Given the description of an element on the screen output the (x, y) to click on. 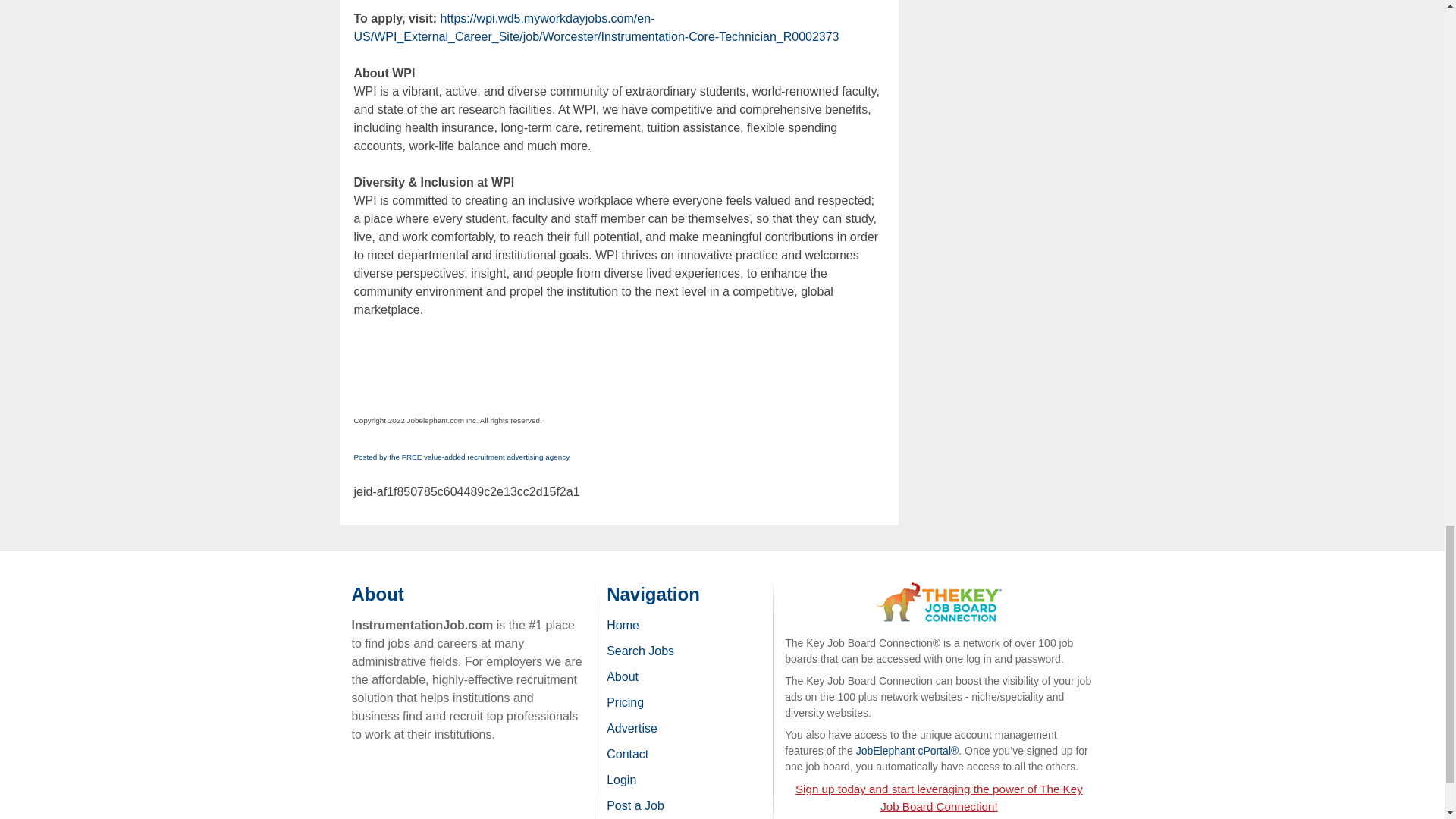
JobElephant THE KEY Job Board Connection (939, 589)
